Given the description of an element on the screen output the (x, y) to click on. 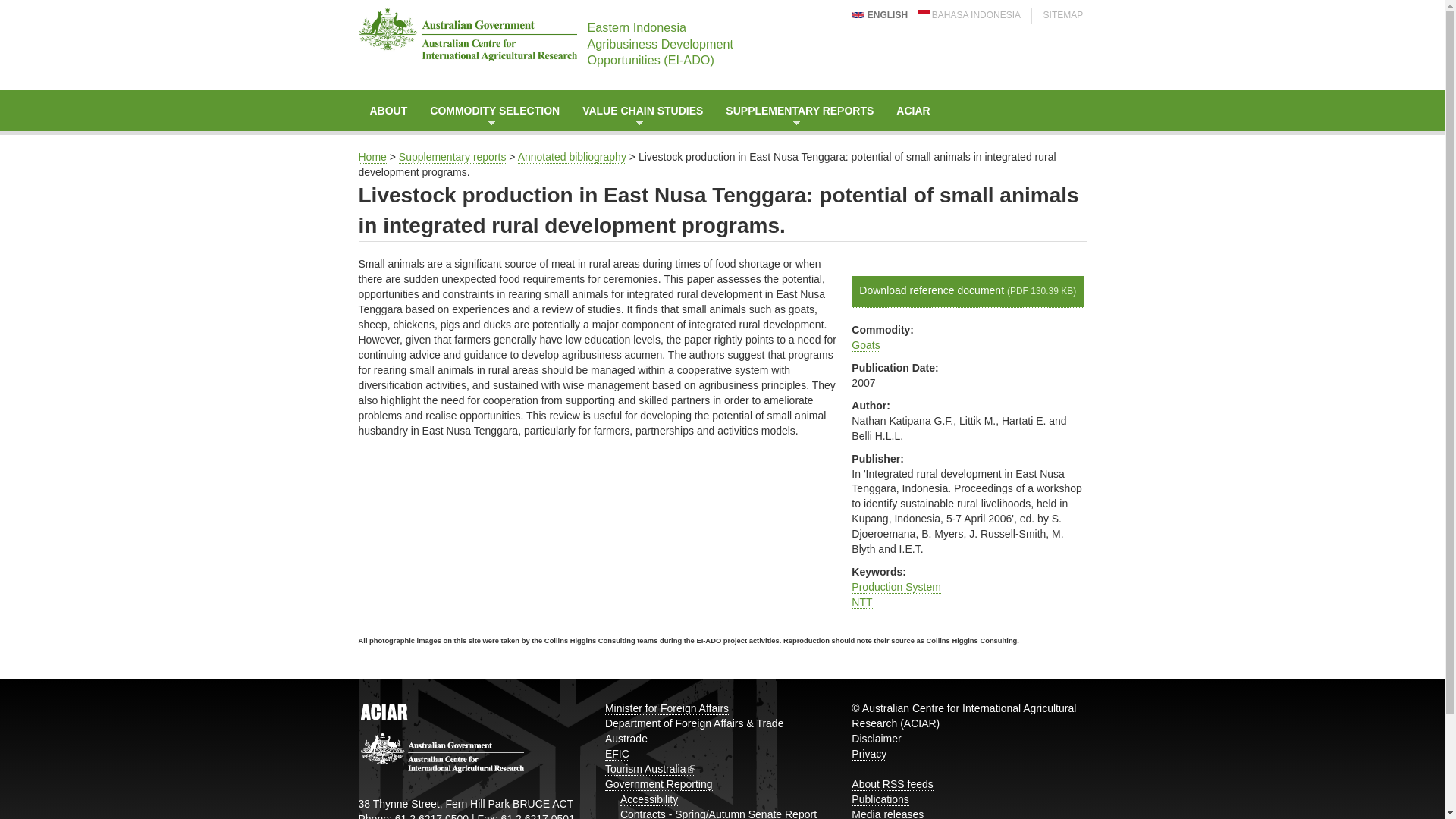
SITEMAP (1062, 15)
Bahasa Indonesia (923, 13)
ACIAR (912, 110)
Production System (895, 586)
Supplementary reports (452, 156)
English (857, 15)
BAHASA INDONESIA (968, 15)
Media releases RSS feed (887, 813)
Publications RSS feed (879, 799)
NTT (861, 602)
Australian Centre for International Agricultural Research (912, 110)
Home (371, 156)
Goats (865, 345)
Tourism Australia (650, 768)
Austrade (626, 738)
